Given the description of an element on the screen output the (x, y) to click on. 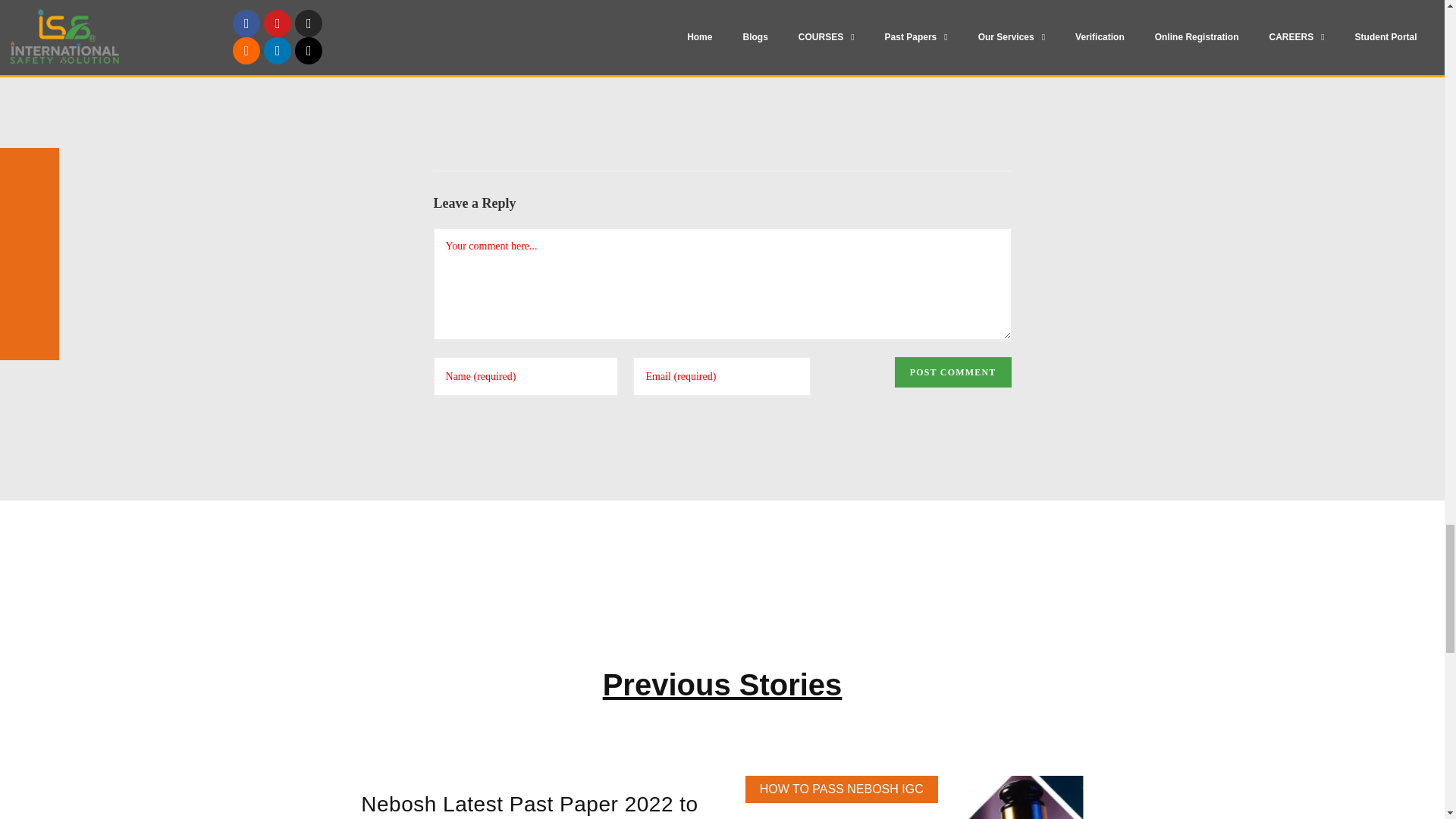
Post Comment (953, 372)
